Given the description of an element on the screen output the (x, y) to click on. 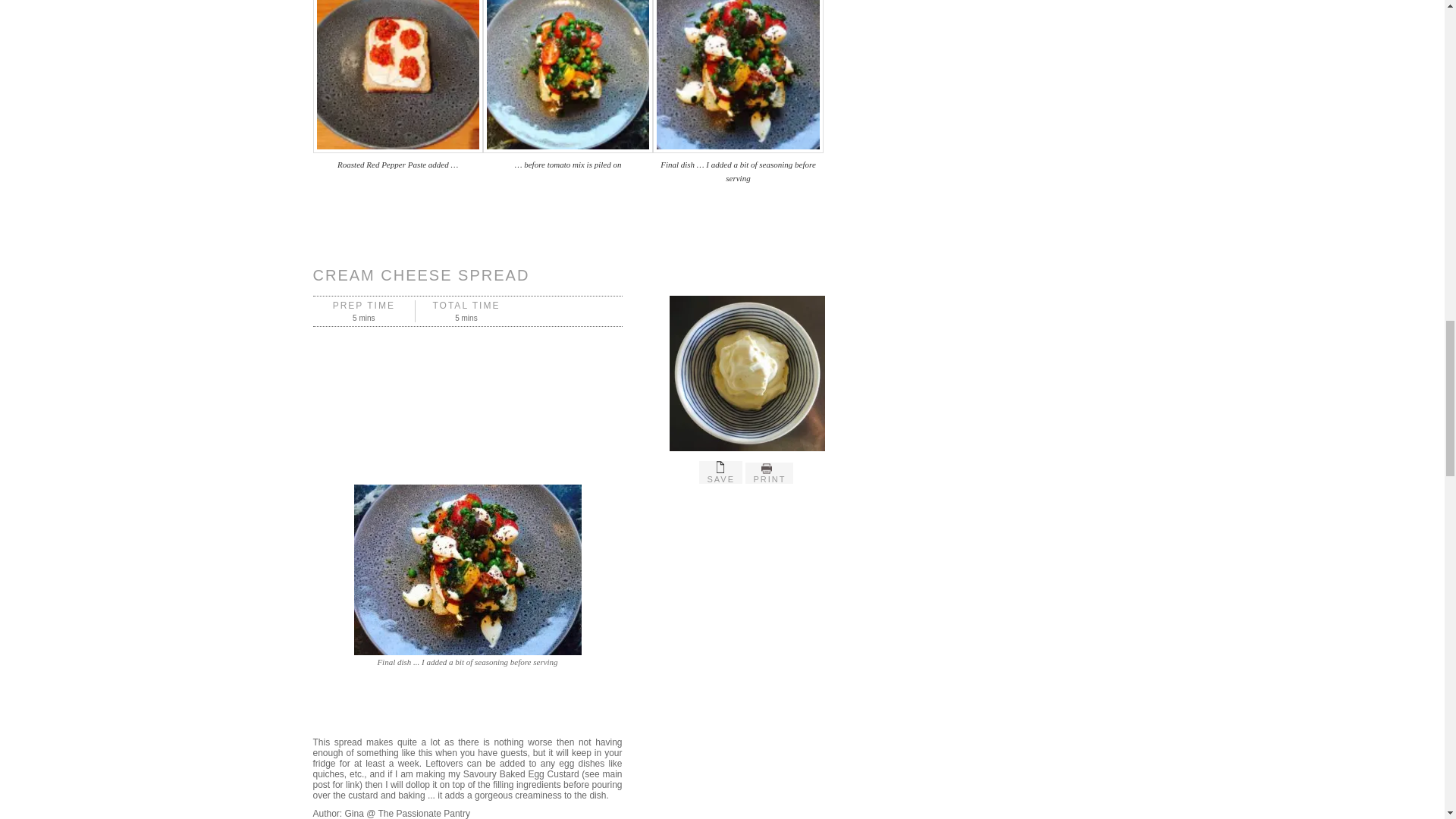
lemon yoghurt sauce (466, 569)
